Given the description of an element on the screen output the (x, y) to click on. 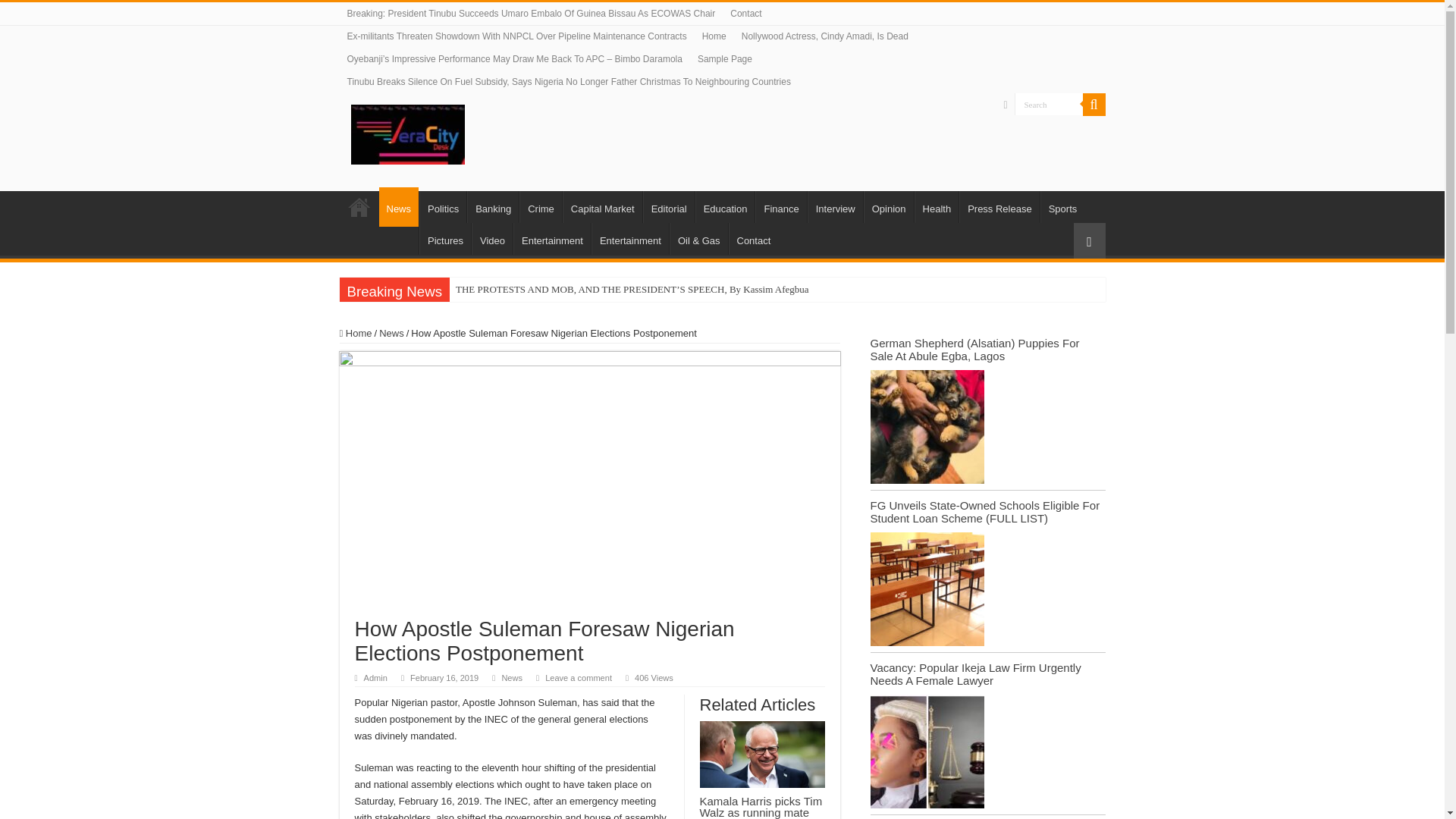
Capital Market (602, 206)
Politics (442, 206)
Home (358, 206)
Nollywood Actress, Cindy Amadi, Is Dead (824, 36)
Sample Page (725, 58)
Home (713, 36)
Banking (492, 206)
Search (1094, 104)
Search (1048, 104)
Contact (745, 13)
Search (1048, 104)
Veracity Desk (407, 131)
